Given the description of an element on the screen output the (x, y) to click on. 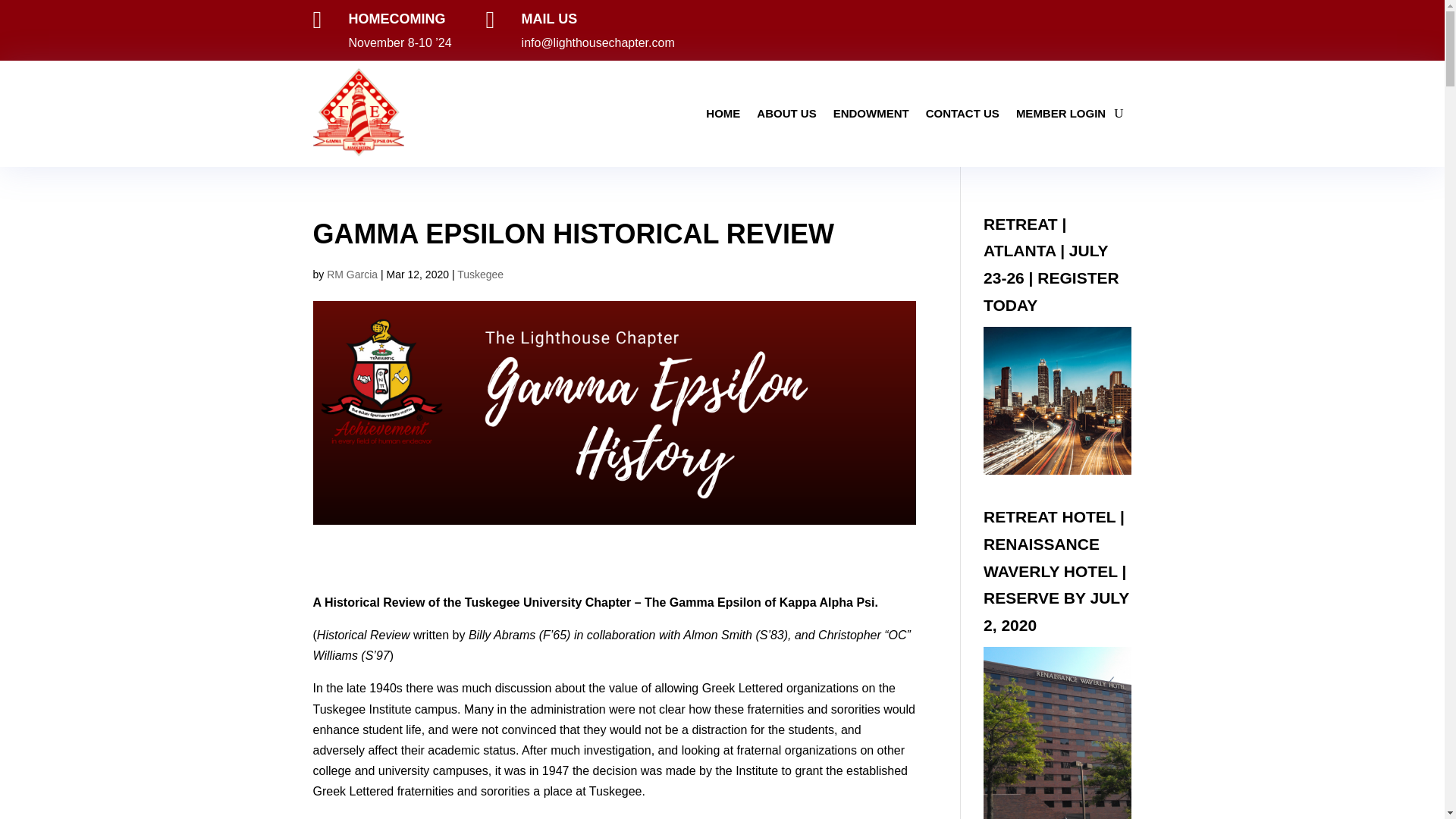
RM Garcia (351, 274)
Tuskegee (480, 274)
Posts by RM Garcia (351, 274)
MEMBER LOGIN (1060, 112)
